Given the description of an element on the screen output the (x, y) to click on. 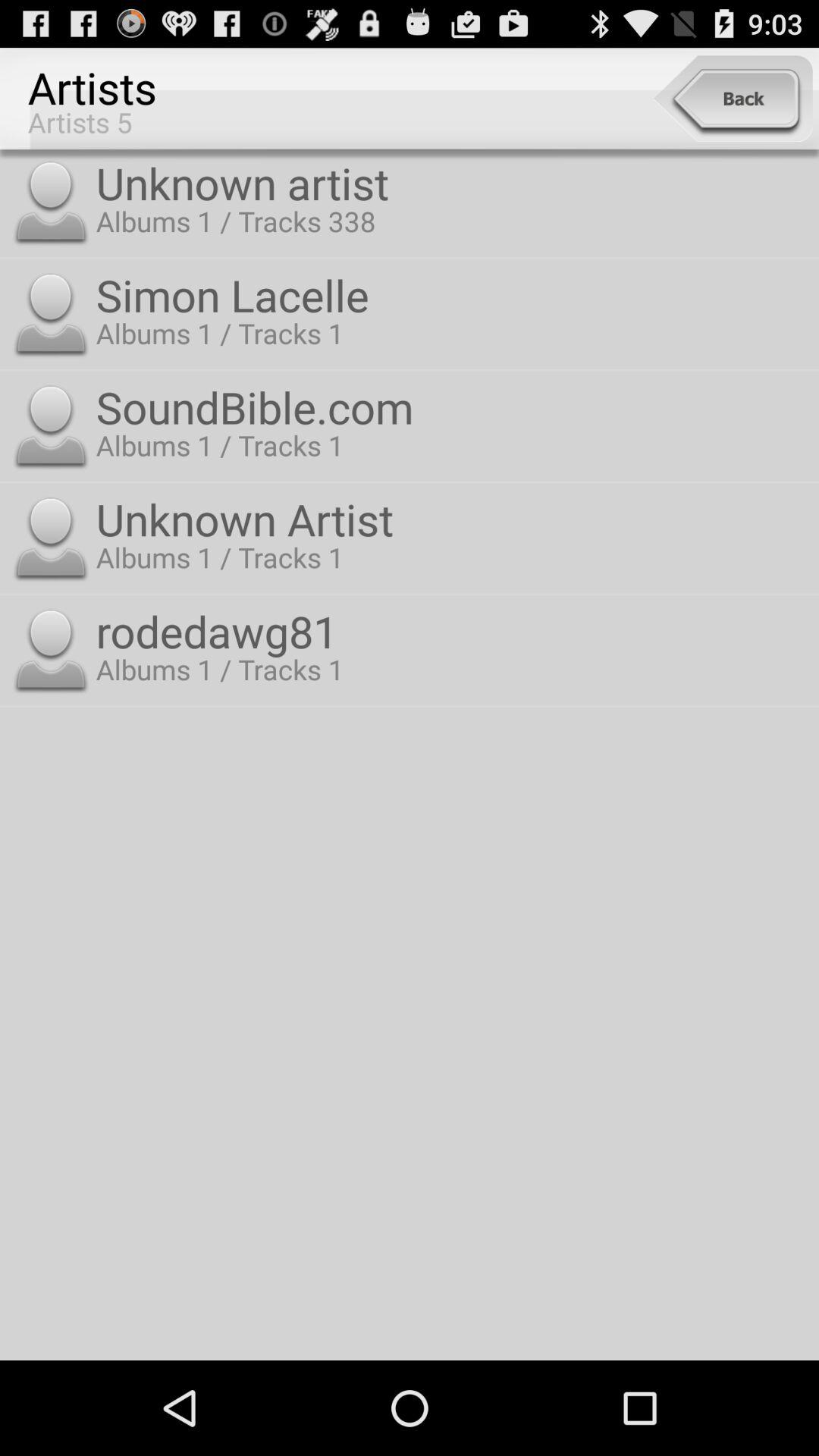
tap the soundbible.com item (454, 406)
